Given the description of an element on the screen output the (x, y) to click on. 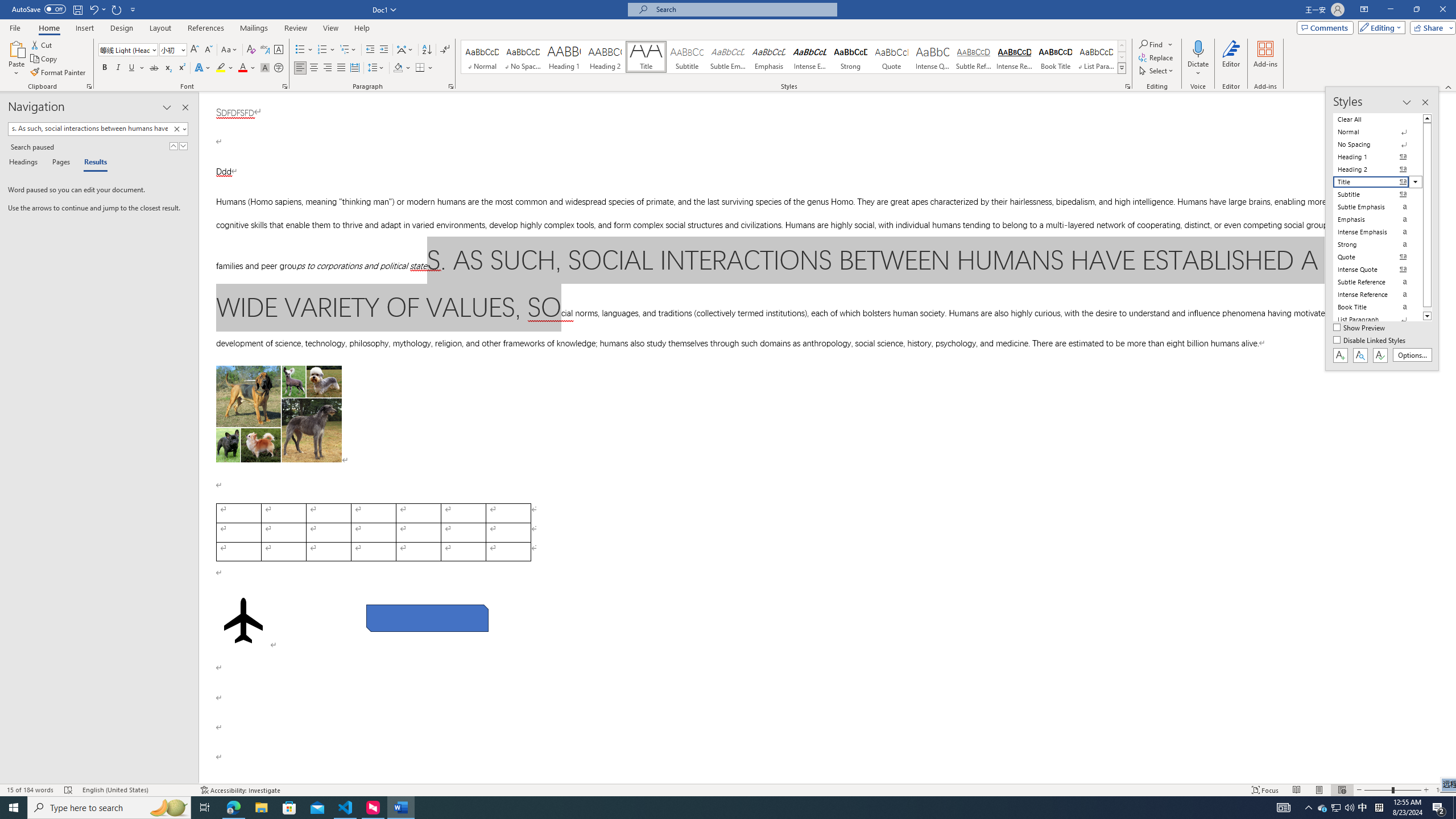
Subtle Reference (973, 56)
Emphasis (768, 56)
Book Title (1055, 56)
Undo Style (92, 9)
Next Result (183, 145)
Show Preview (1360, 328)
